Given the description of an element on the screen output the (x, y) to click on. 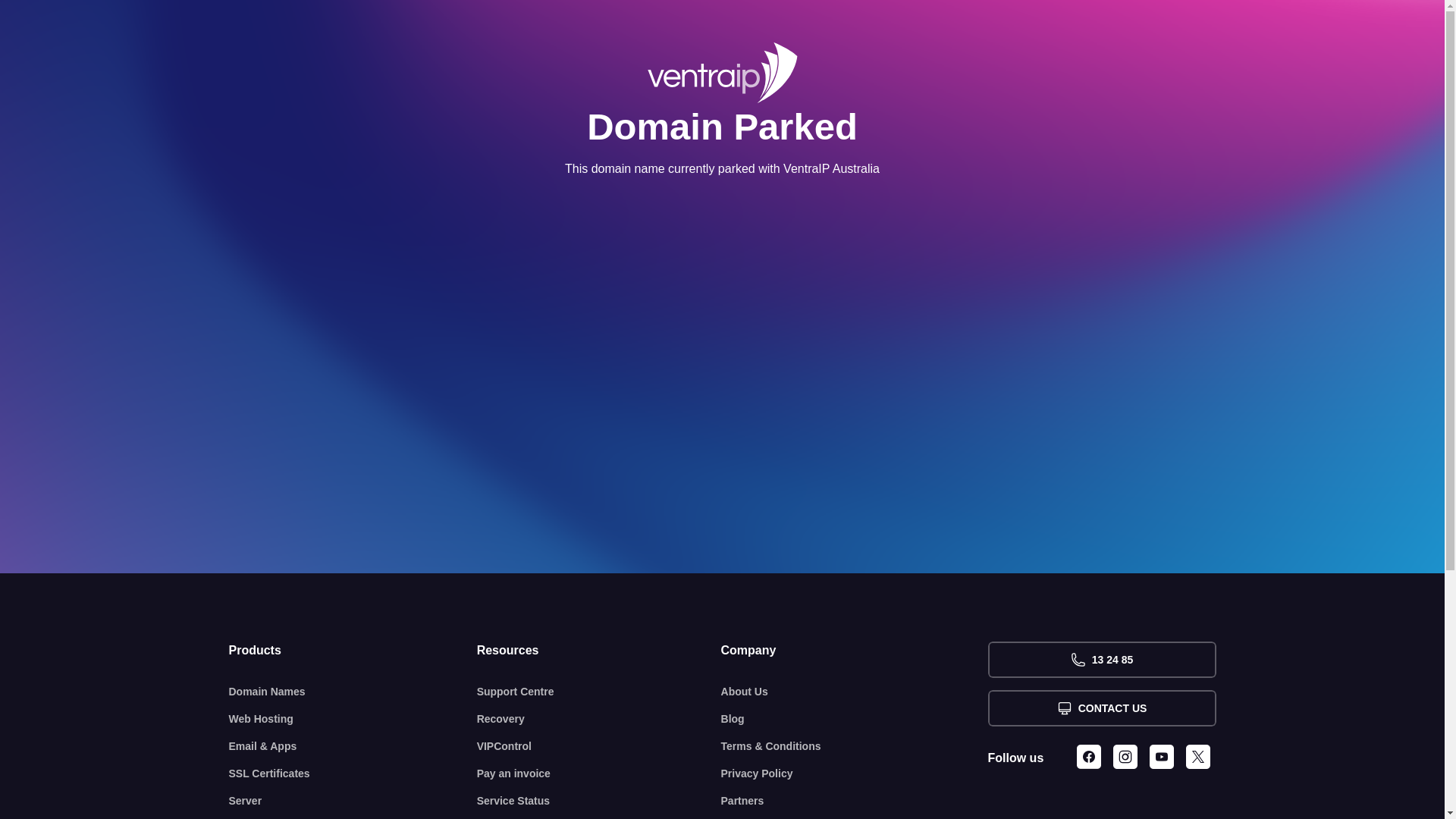
13 24 85 Element type: text (1101, 659)
Email & Apps Element type: text (352, 745)
Recovery Element type: text (598, 718)
Web Hosting Element type: text (352, 718)
Blog Element type: text (854, 718)
Support Centre Element type: text (598, 691)
Privacy Policy Element type: text (854, 773)
About Us Element type: text (854, 691)
Terms & Conditions Element type: text (854, 745)
Pay an invoice Element type: text (598, 773)
CONTACT US Element type: text (1101, 708)
Server Element type: text (352, 800)
VIPControl Element type: text (598, 745)
SSL Certificates Element type: text (352, 773)
Partners Element type: text (854, 800)
Service Status Element type: text (598, 800)
Domain Names Element type: text (352, 691)
